Given the description of an element on the screen output the (x, y) to click on. 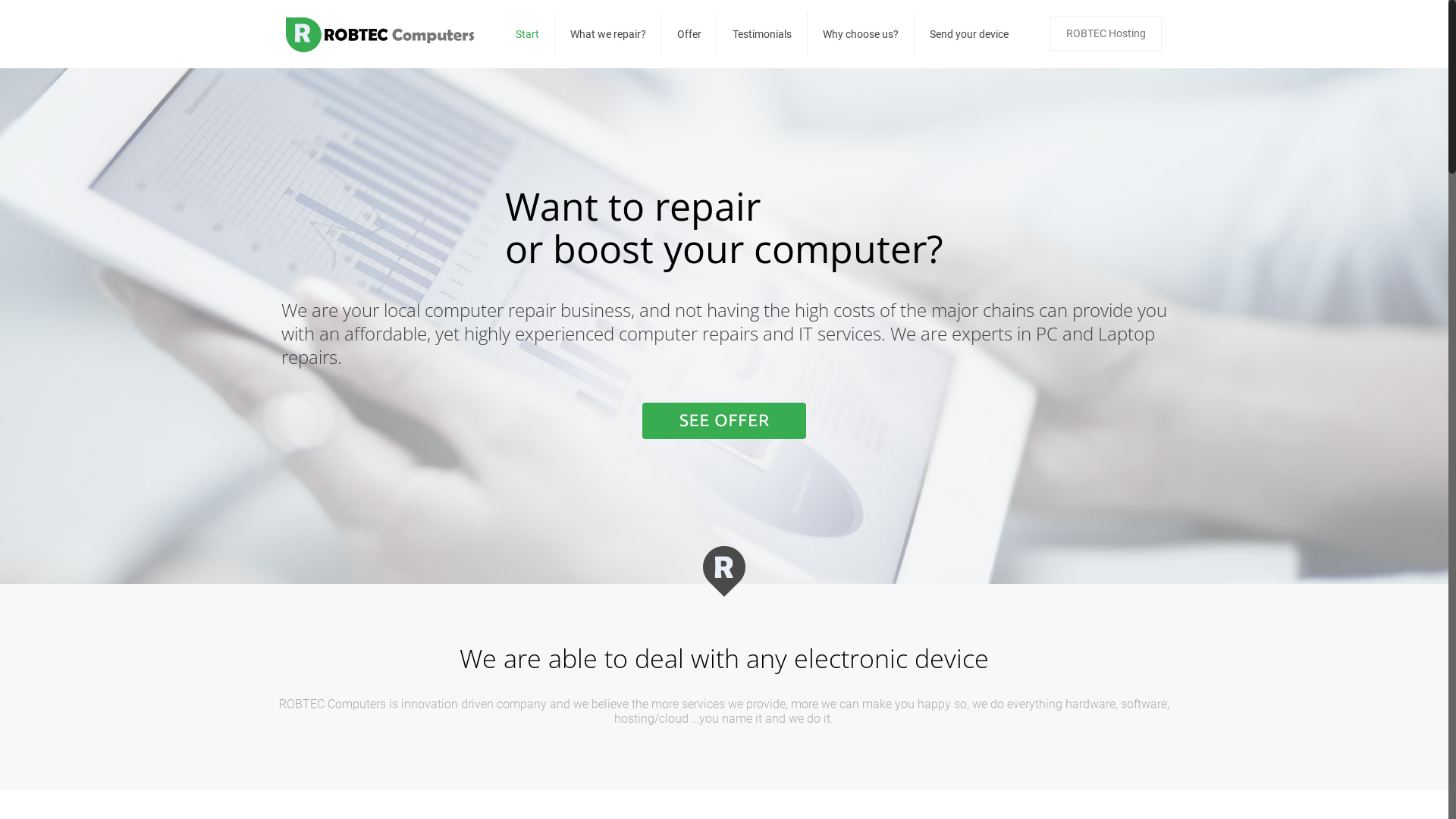
Why choose us? Element type: text (860, 34)
Send your device Element type: text (968, 34)
Testimonials Element type: text (762, 34)
ROBTEC Hosting Element type: text (1105, 33)
Offer Element type: text (689, 34)
Start Element type: text (527, 34)
What we repair? Element type: text (608, 34)
